Given the description of an element on the screen output the (x, y) to click on. 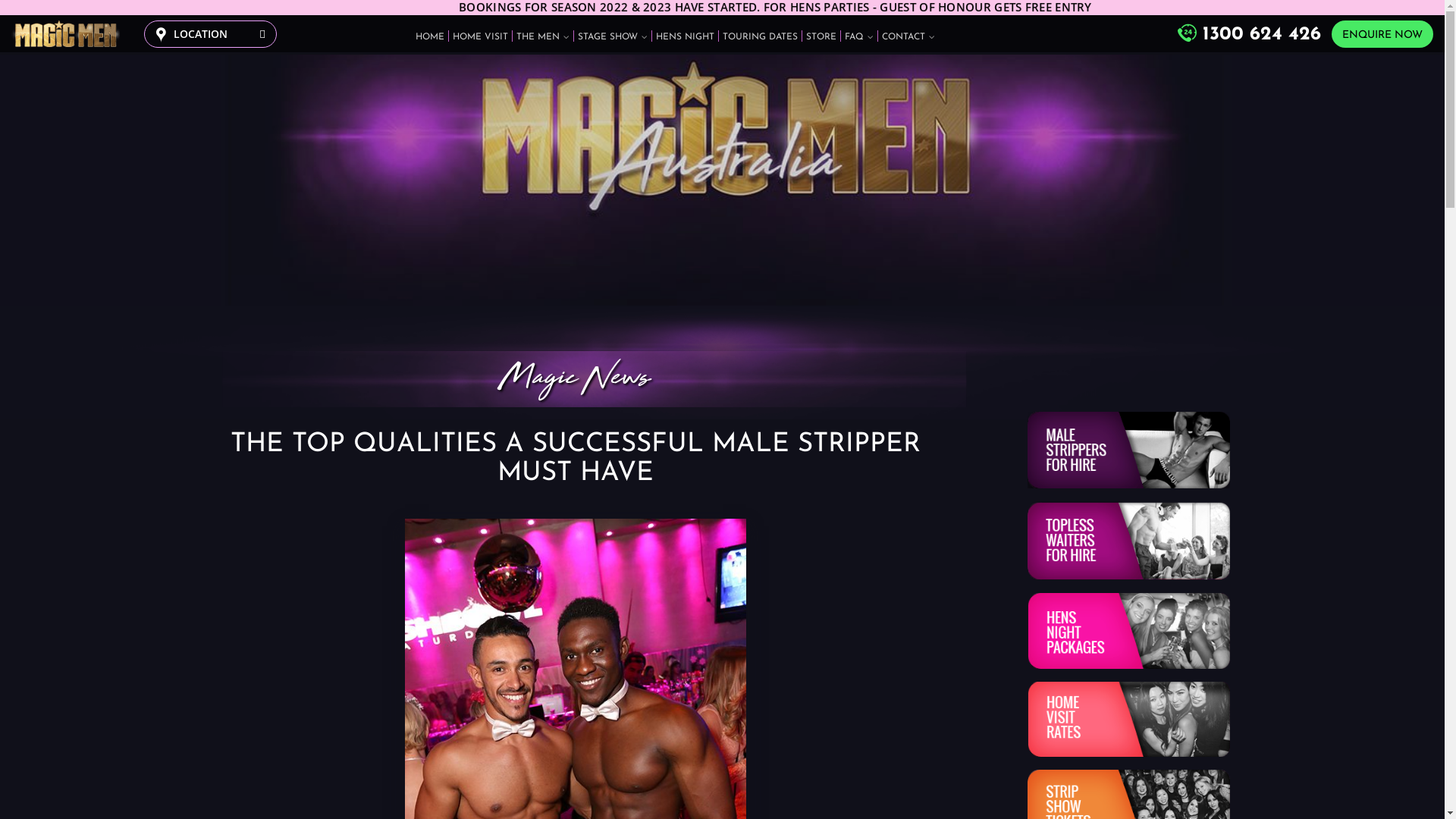
STORE Element type: text (821, 36)
THE MEN Element type: text (542, 36)
CONTACT Element type: text (908, 36)
topless hunks and barmen for your next event Element type: hover (1128, 540)
hire our hunky male strippers melbourne Element type: hover (1128, 449)
HOME VISIT Element type: text (480, 36)
1300 624 426 Element type: text (1249, 32)
ENQUIRE NOW Element type: text (1382, 33)
TOURING DATES Element type: text (759, 36)
see the rates for our entertainers at your private event Element type: hover (1128, 718)
HOME Element type: text (429, 36)
Hens Party Packages and Ideas Element type: hover (1128, 630)
STAGE SHOW Element type: text (612, 36)
FAQ Element type: text (858, 36)
HENS NIGHT Element type: text (684, 36)
